Given the description of an element on the screen output the (x, y) to click on. 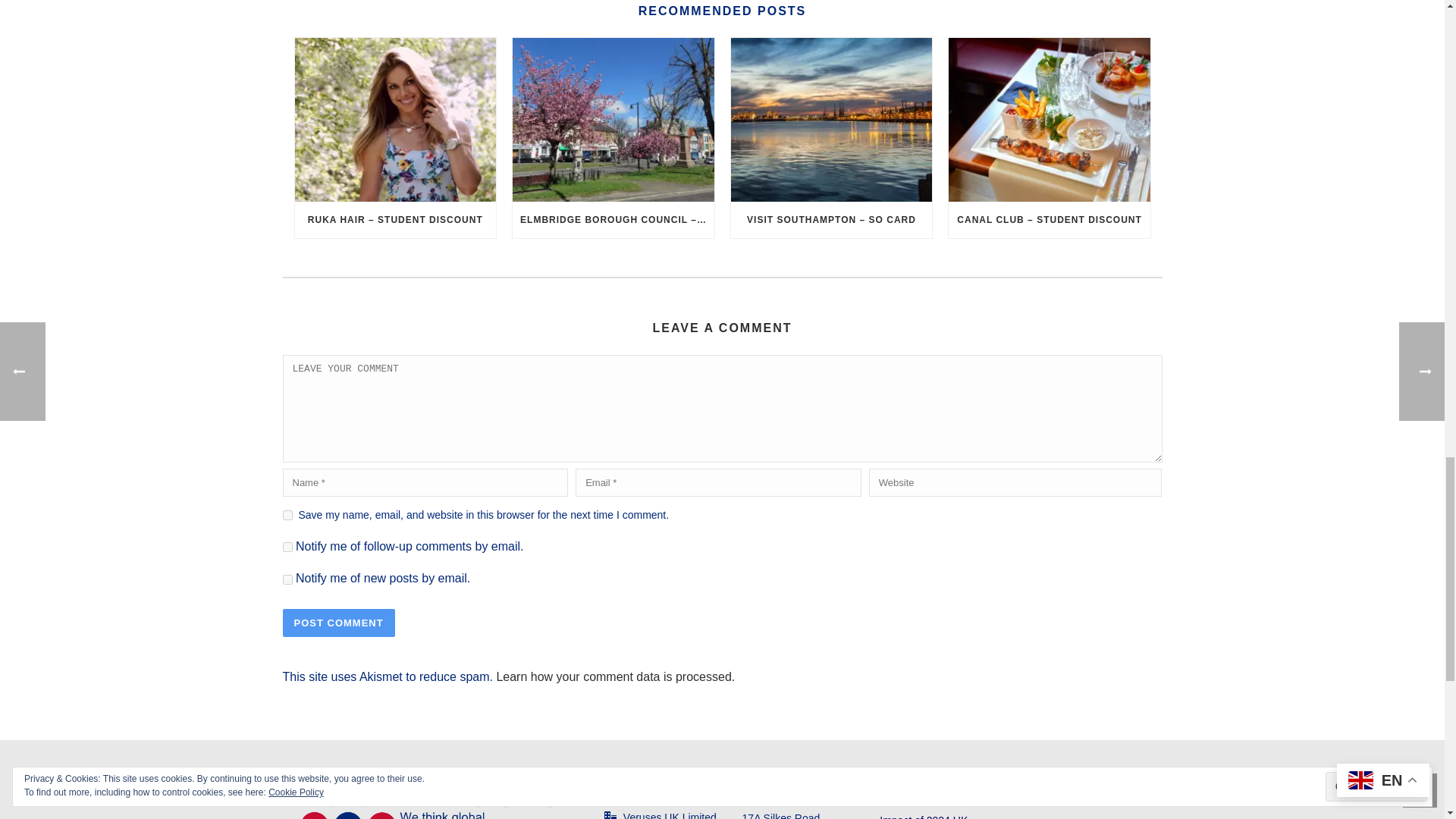
POST COMMENT (338, 623)
subscribe (287, 547)
yes (287, 515)
subscribe (287, 579)
